Given the description of an element on the screen output the (x, y) to click on. 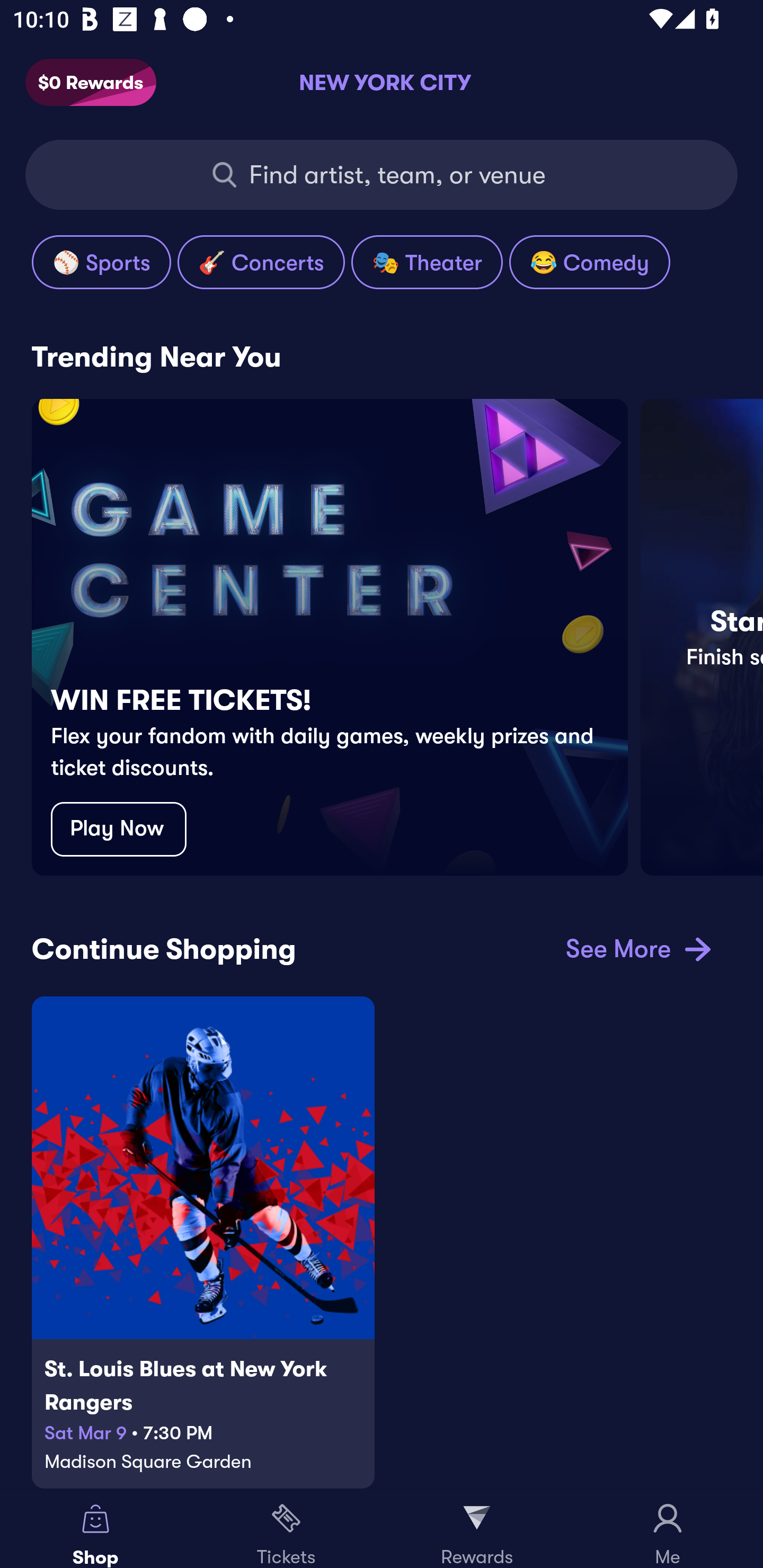
$0 Rewards (90, 82)
NEW YORK CITY (381, 81)
Find artist, team, or venue (381, 174)
⚾ Sports (101, 261)
🎸 Concerts (261, 261)
🎭 Theater (426, 261)
😂 Comedy (589, 261)
See More (635, 948)
Shop (95, 1529)
Tickets (285, 1529)
Rewards (476, 1529)
Me (667, 1529)
